Given the description of an element on the screen output the (x, y) to click on. 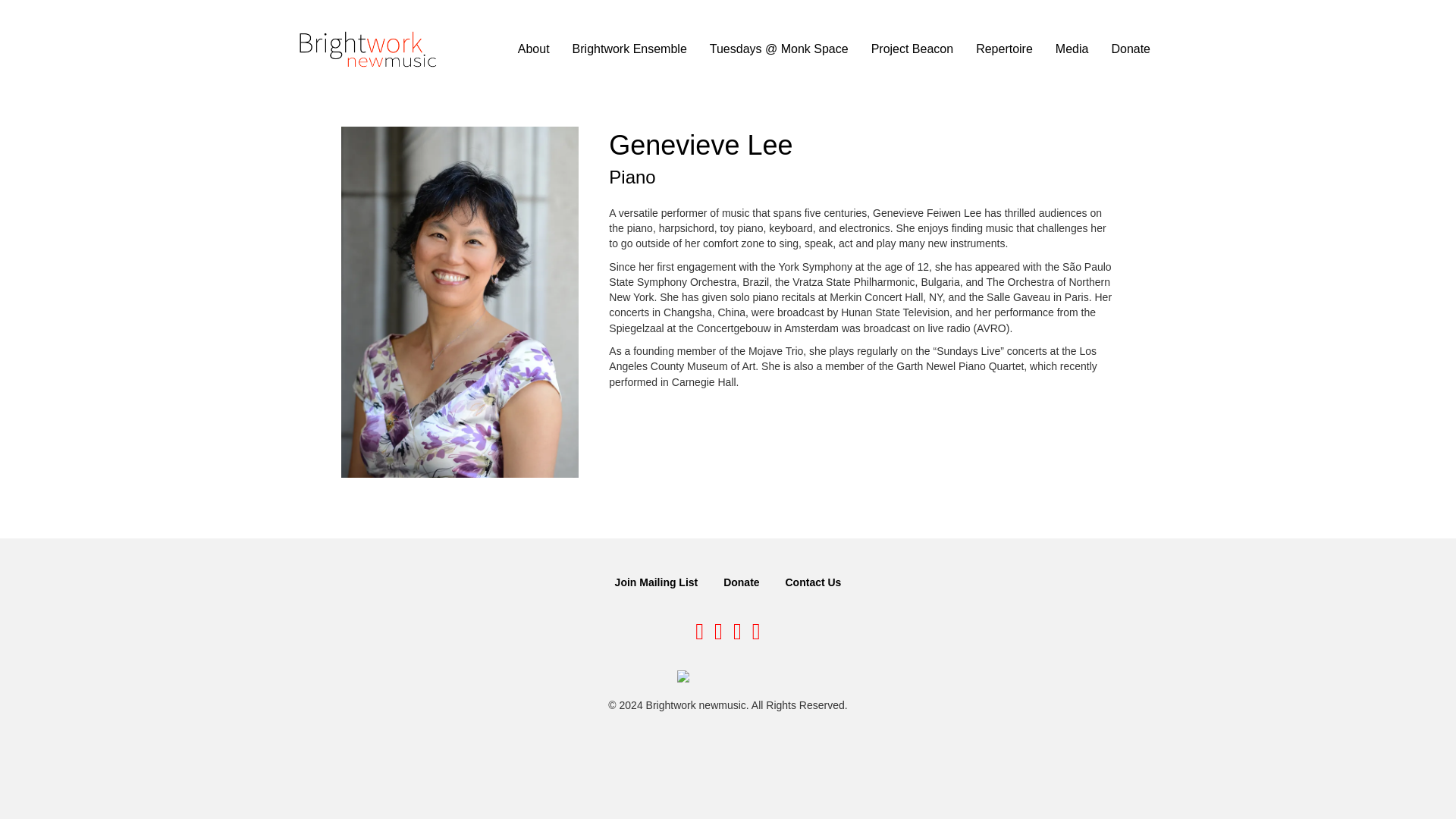
Join Mailing List (656, 582)
Media (1072, 49)
About (534, 49)
Donate (741, 582)
Repertoire (1004, 49)
BrightworkLogo2 (369, 49)
Project Beacon (911, 49)
Brightwork Ensemble (629, 49)
Contact Us (812, 582)
Donate (1130, 49)
